Given the description of an element on the screen output the (x, y) to click on. 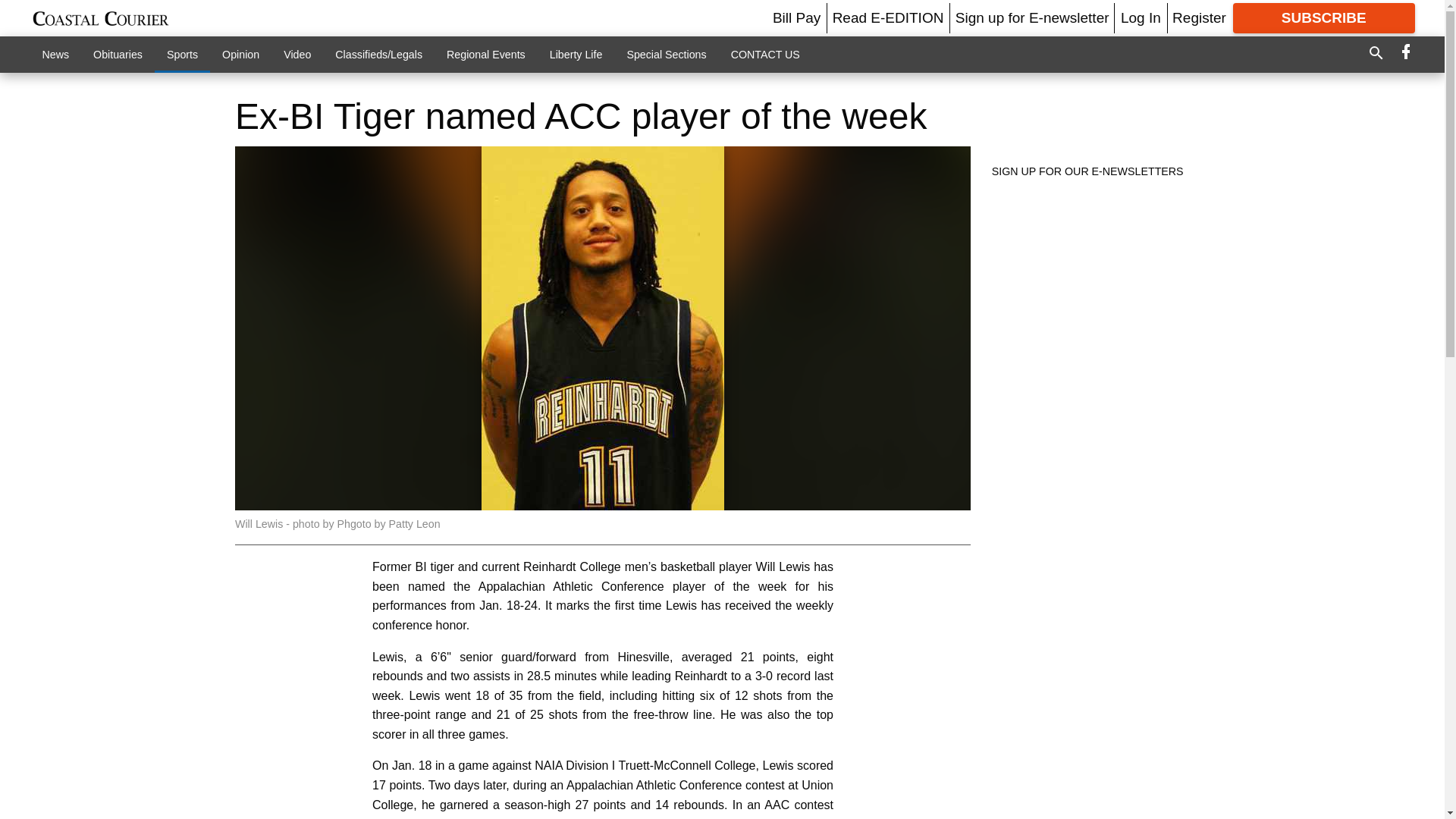
Opinion (239, 54)
Read E-EDITION (887, 17)
Obituaries (117, 54)
Bill Pay (797, 17)
Signup Widget Embed (1095, 305)
Log In (1140, 17)
Register (1198, 17)
CONTACT US (765, 54)
Regional Events (485, 54)
SUBSCRIBE (1324, 18)
